Given the description of an element on the screen output the (x, y) to click on. 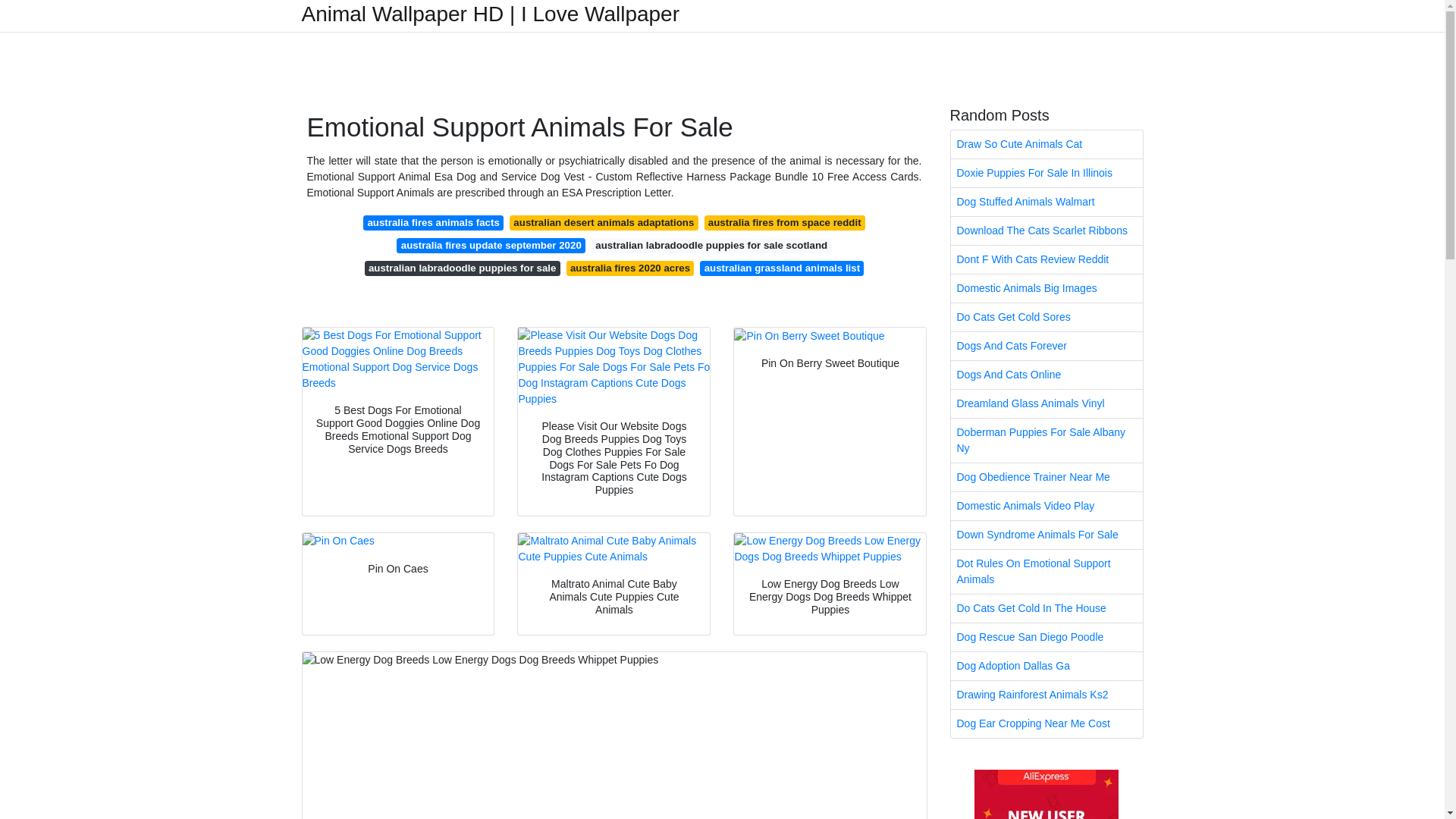
Dogs And Cats Forever (1046, 346)
australian desert animals adaptations (603, 222)
Dog Stuffed Animals Walmart (1046, 202)
Dreamland Glass Animals Vinyl (1046, 403)
australia fires update september 2020 (490, 245)
Dogs And Cats Online (1046, 375)
australian labradoodle puppies for sale scotland (711, 245)
Domestic Animals Big Images (1046, 288)
australian labradoodle puppies for sale (462, 268)
Dont F With Cats Review Reddit (1046, 259)
australia fires from space reddit (784, 222)
Draw So Cute Animals Cat (1046, 144)
australia fires 2020 acres (630, 268)
Doxie Puppies For Sale In Illinois (1046, 172)
australian grassland animals list (781, 268)
